Given the description of an element on the screen output the (x, y) to click on. 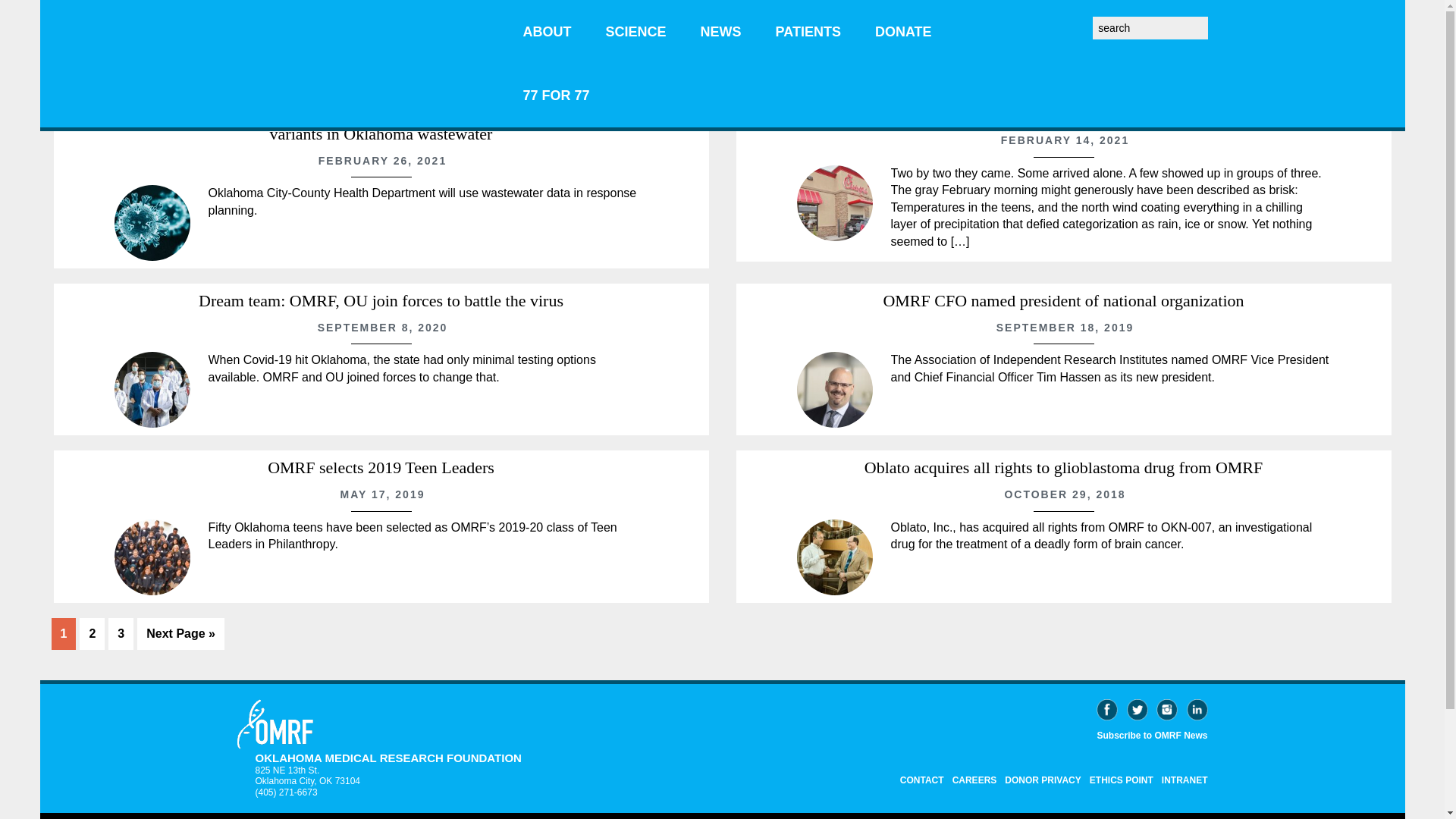
DONATE (903, 31)
ABOUT (547, 31)
SCIENCE (636, 31)
Search (1212, 21)
PATIENTS (808, 31)
Search (1212, 21)
NEWS (721, 31)
